Given the description of an element on the screen output the (x, y) to click on. 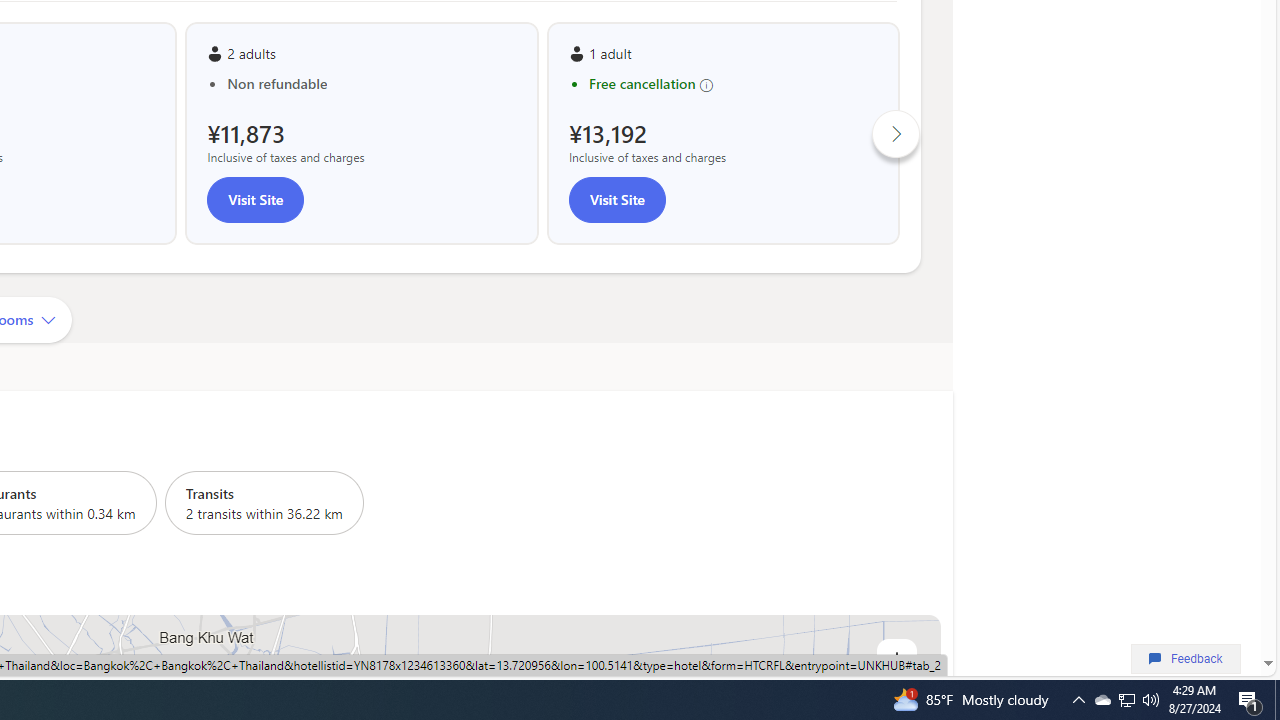
Zoom in (895, 658)
Visit Site (616, 200)
Non refundable (371, 83)
Free cancellation (733, 83)
Click to scroll right (896, 132)
Transits 2 transits within 36.22 km (263, 502)
